Given the description of an element on the screen output the (x, y) to click on. 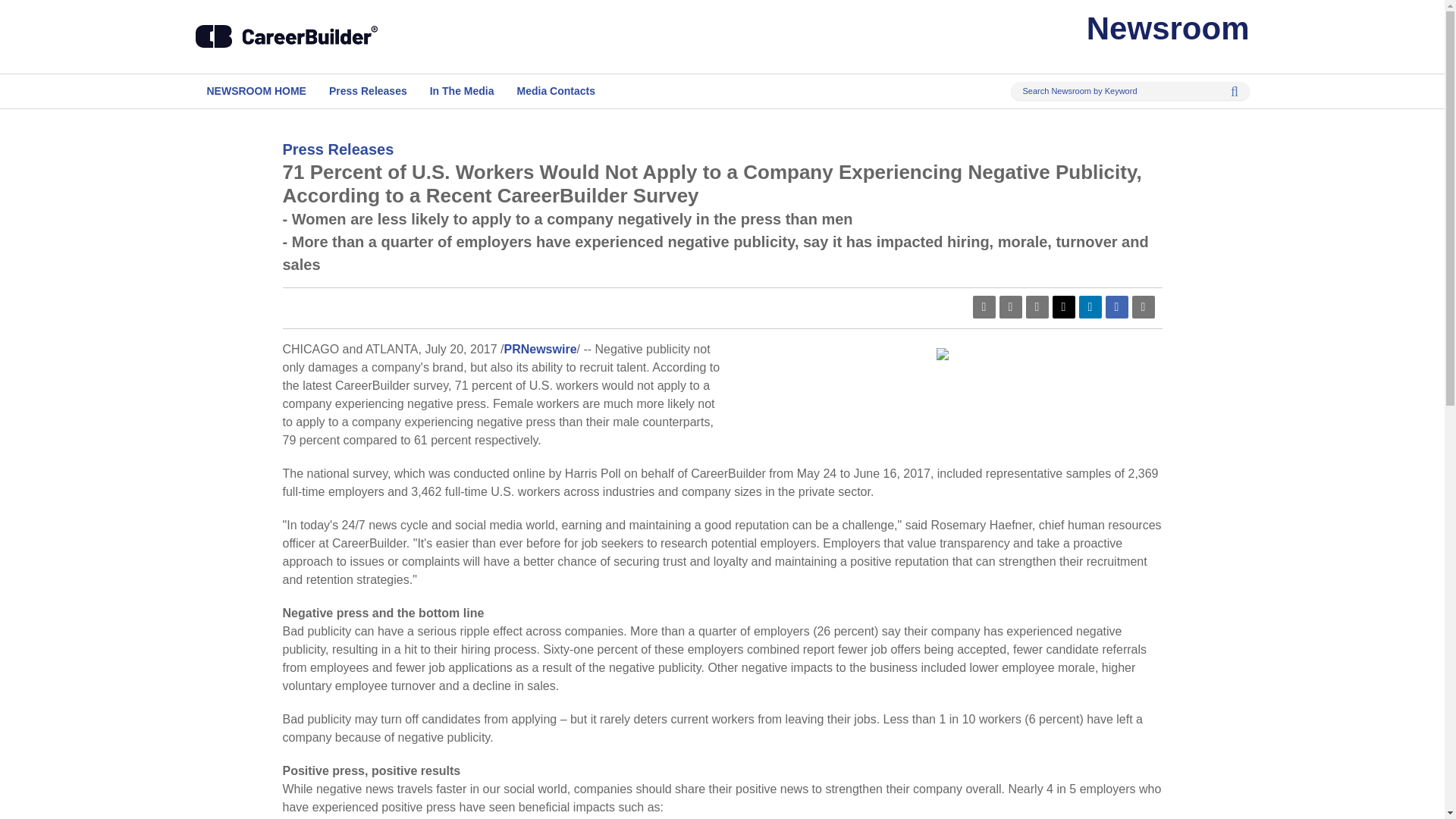
NEWSROOM HOME (256, 91)
Media Contacts (556, 91)
email (1036, 306)
In The Media (462, 91)
pdf (983, 306)
Twitter Share (1063, 306)
Press Releases (368, 91)
Search Newsroom by Keyword (1129, 90)
Search (1229, 91)
print (1142, 306)
